Given the description of an element on the screen output the (x, y) to click on. 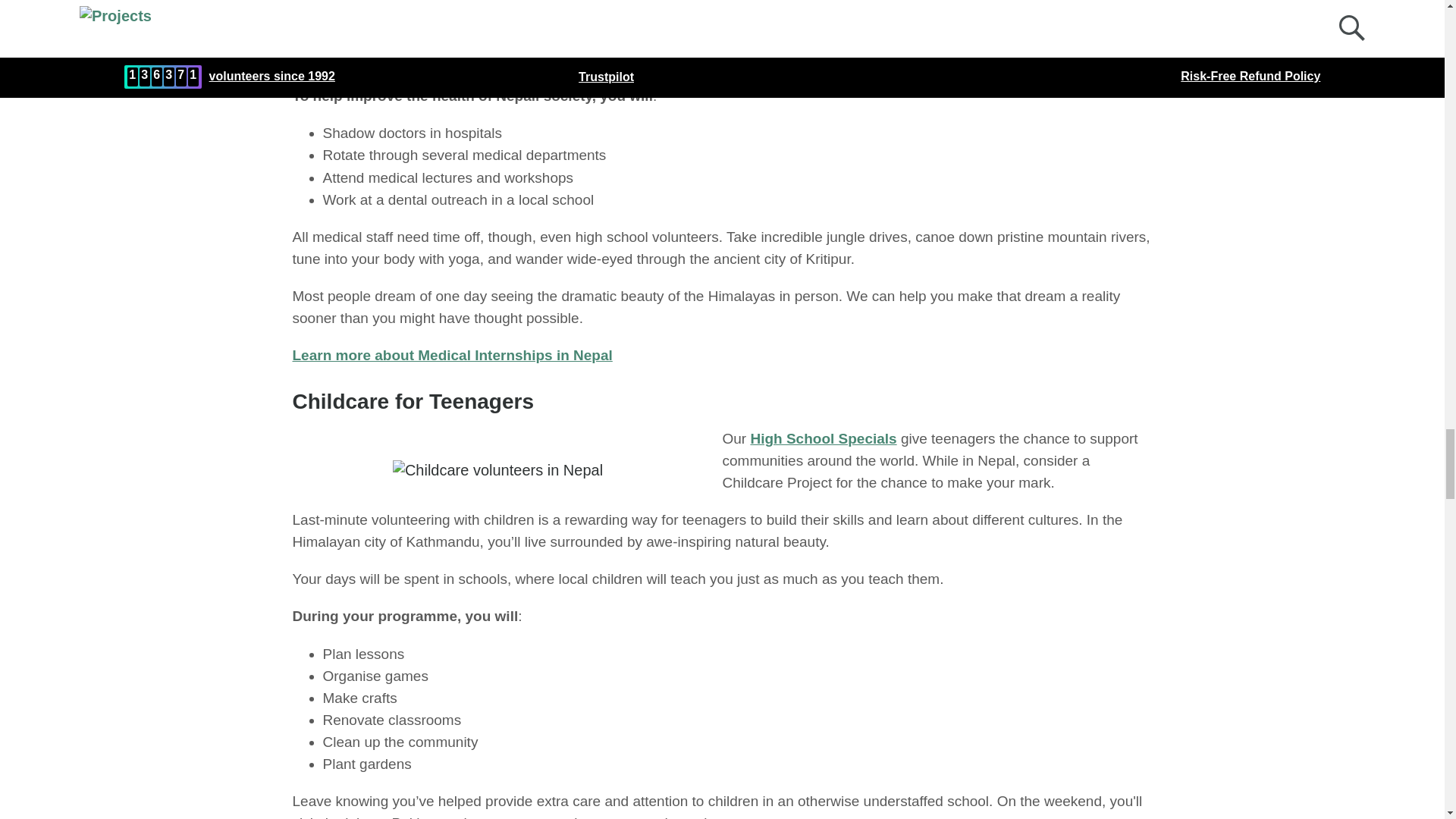
Interns enjoy their Medical Project in Nepal (505, 24)
